Given the description of an element on the screen output the (x, y) to click on. 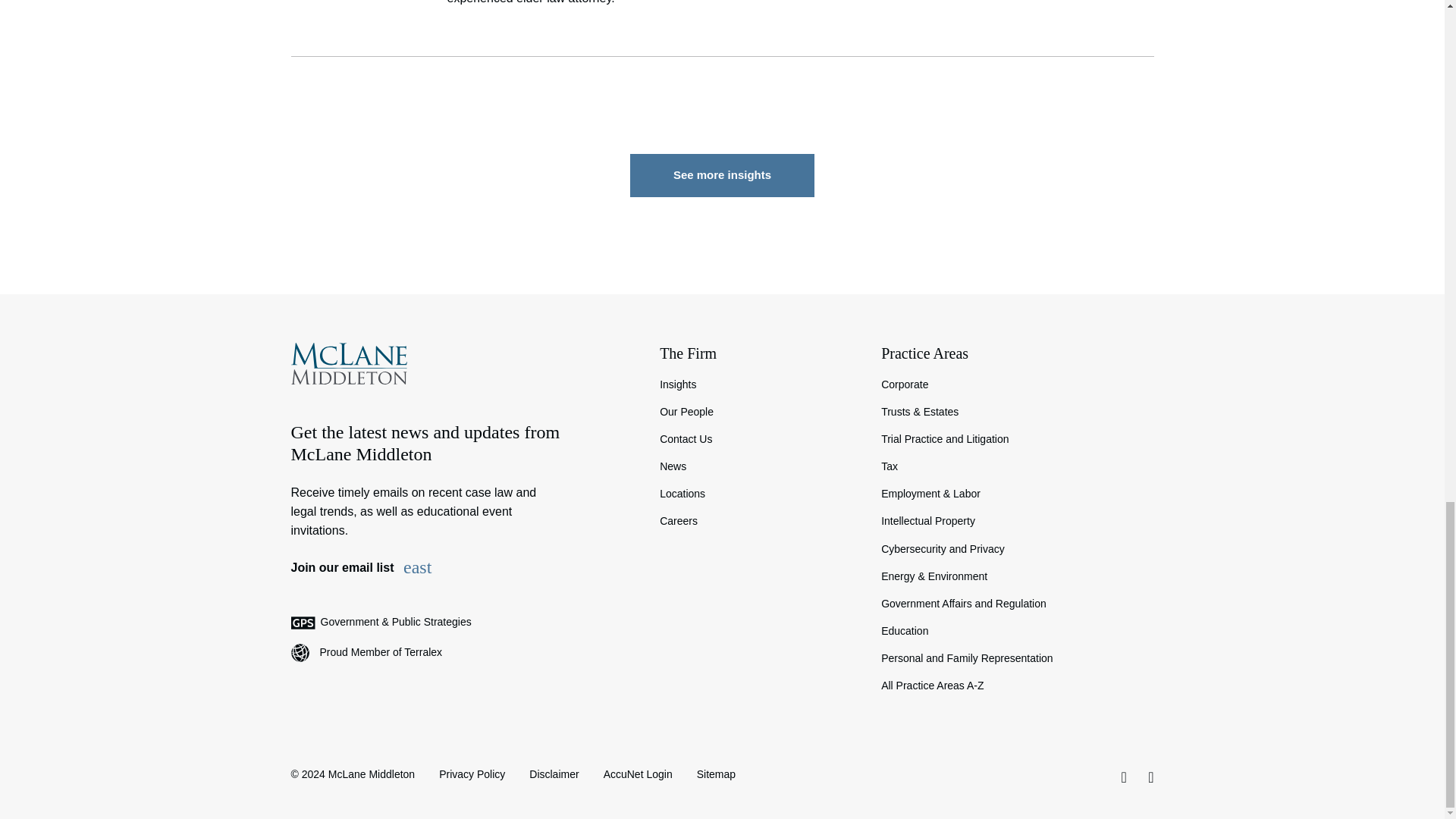
Contact Us (759, 438)
Our People (759, 411)
The Firm (759, 353)
Trial Practice and Litigation (1016, 438)
Careers (759, 520)
Tax (1016, 466)
Insights (759, 384)
Locations (759, 493)
Corporate (1016, 384)
Practice Areas (1016, 353)
News (759, 466)
